Given the description of an element on the screen output the (x, y) to click on. 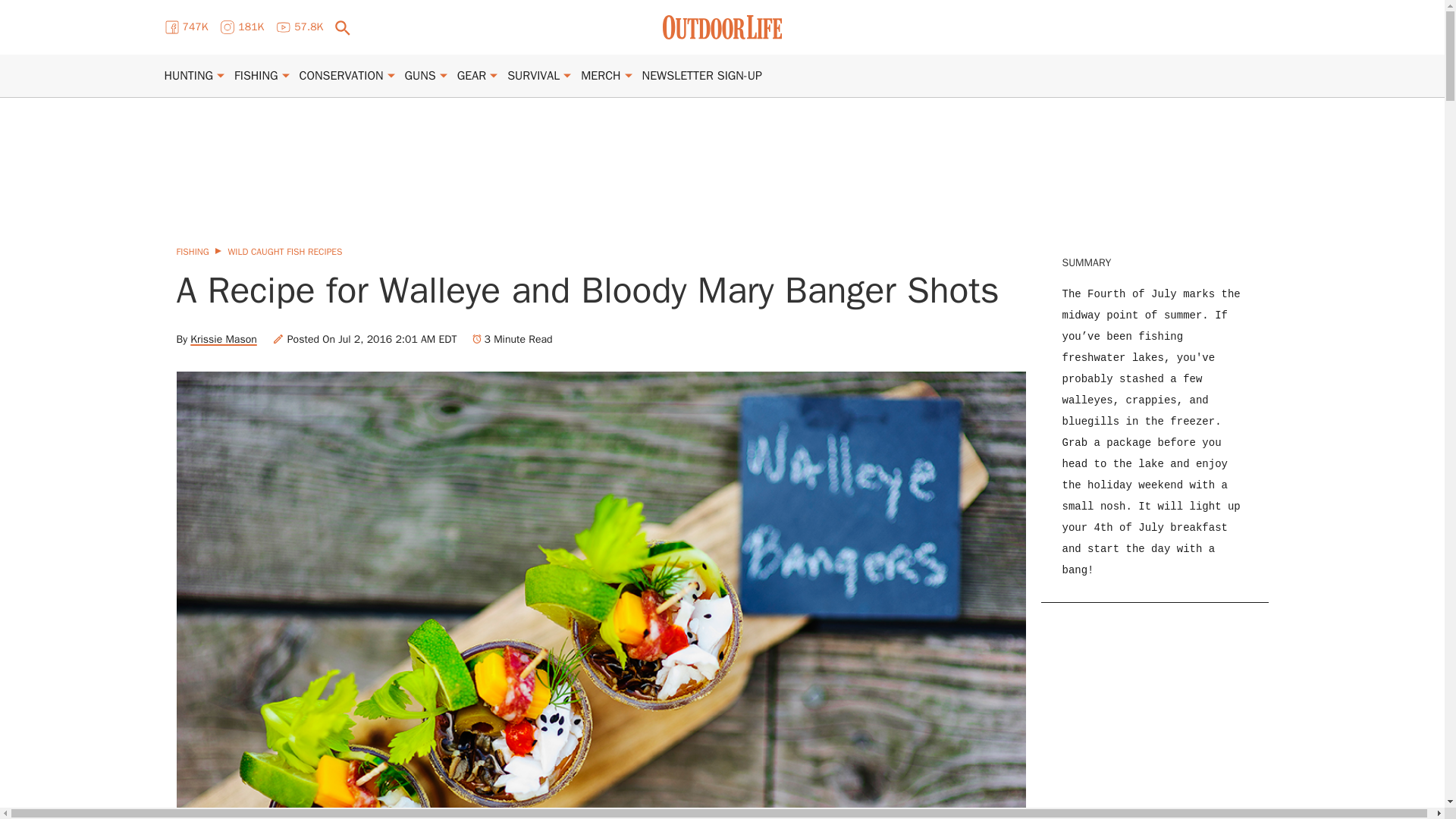
Merch (600, 75)
Survival (532, 75)
Gear (471, 75)
Newsletter Sign-up (701, 75)
Conservation (341, 75)
Hunting (187, 75)
Fishing (256, 75)
Guns (419, 75)
